Given the description of an element on the screen output the (x, y) to click on. 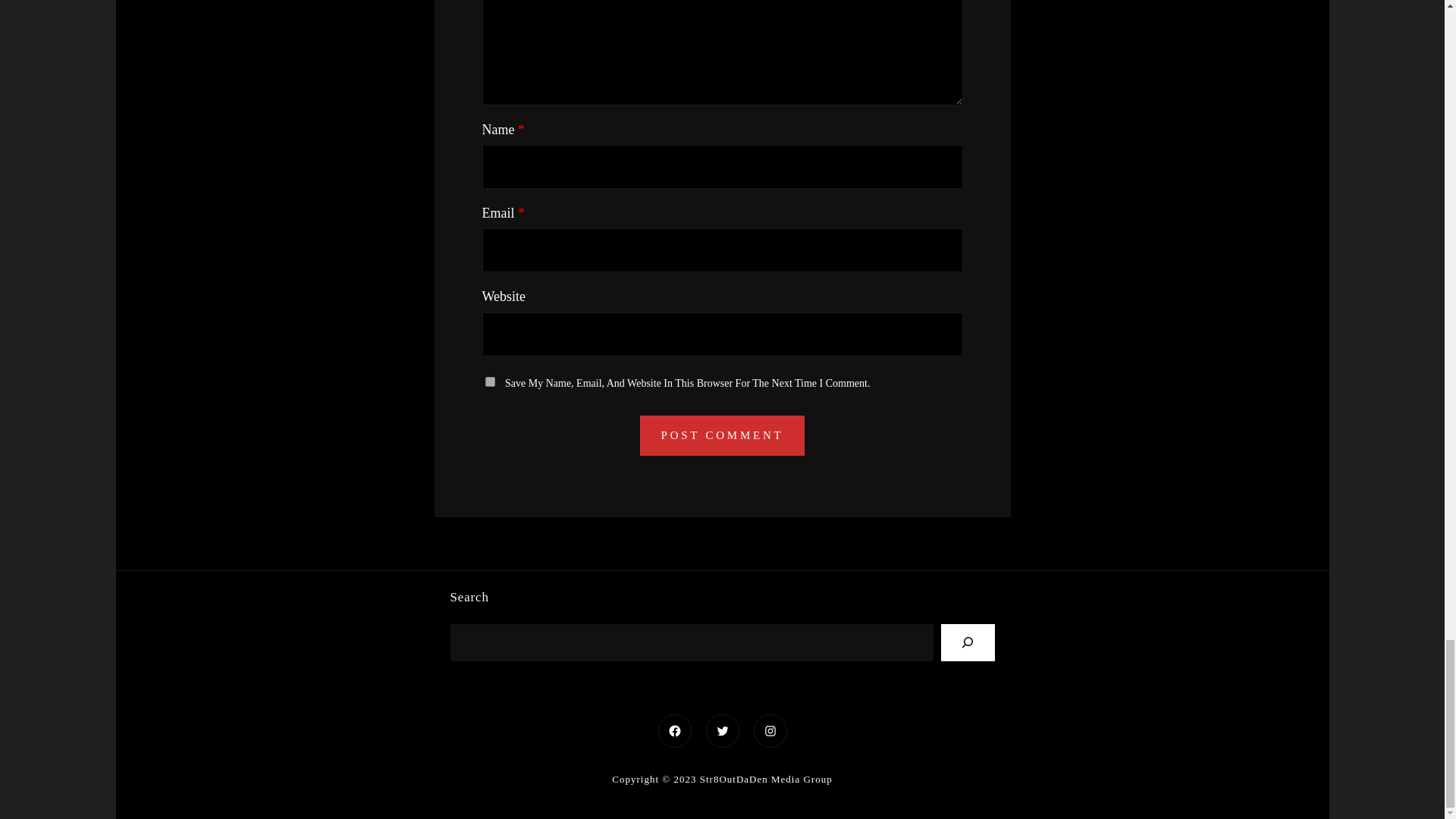
Facebook (673, 730)
Post Comment (722, 435)
Instagram (770, 730)
Post Comment (722, 435)
yes (489, 381)
Twitter (722, 730)
